Given the description of an element on the screen output the (x, y) to click on. 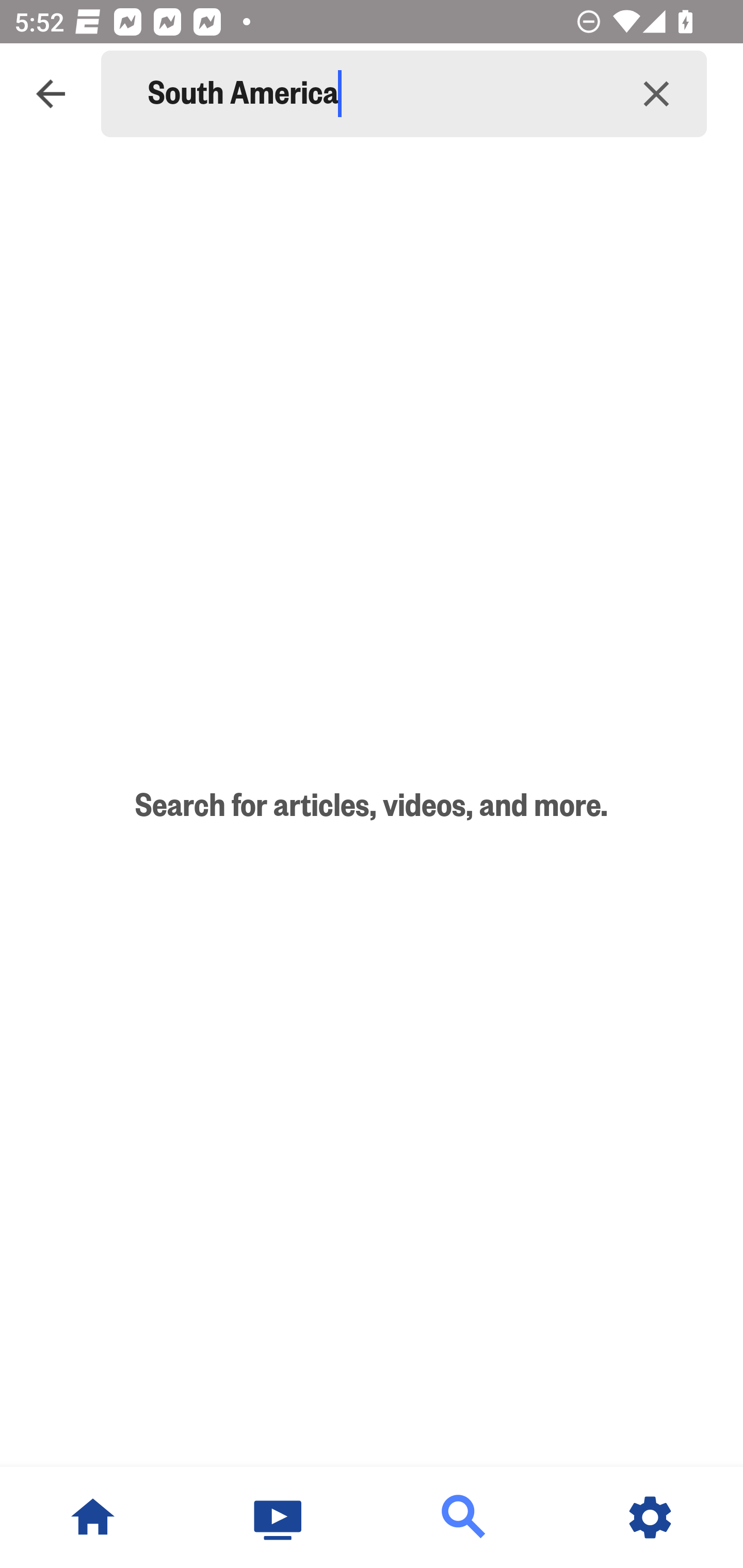
Navigate up (50, 93)
Clear query (656, 93)
South America (376, 94)
NBC News Home (92, 1517)
Watch (278, 1517)
Settings (650, 1517)
